Given the description of an element on the screen output the (x, y) to click on. 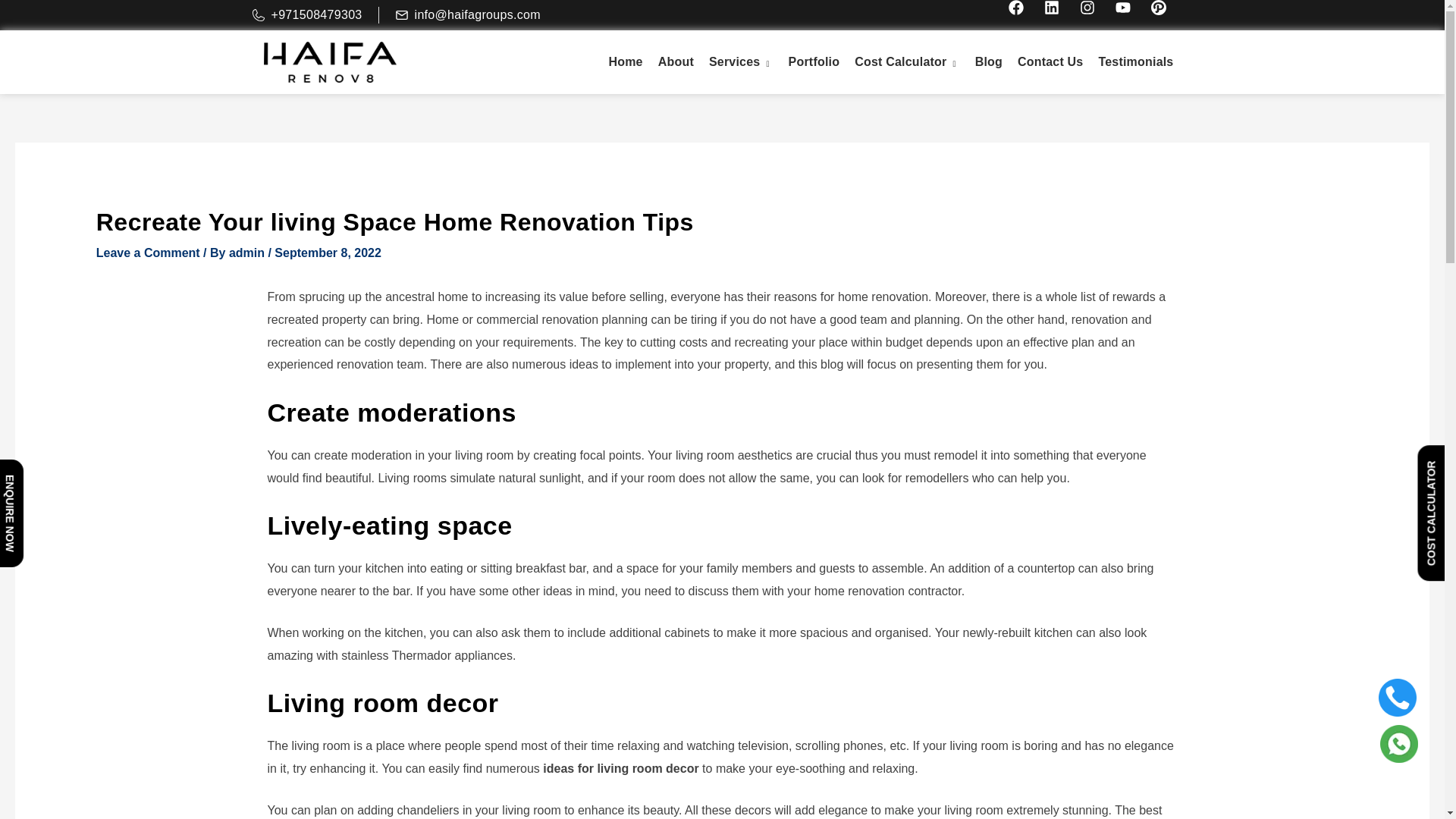
View all posts by admin (247, 252)
Portfolio (813, 62)
Home (624, 62)
Services (740, 62)
About (675, 62)
Cost Calculator (906, 62)
